Given the description of an element on the screen output the (x, y) to click on. 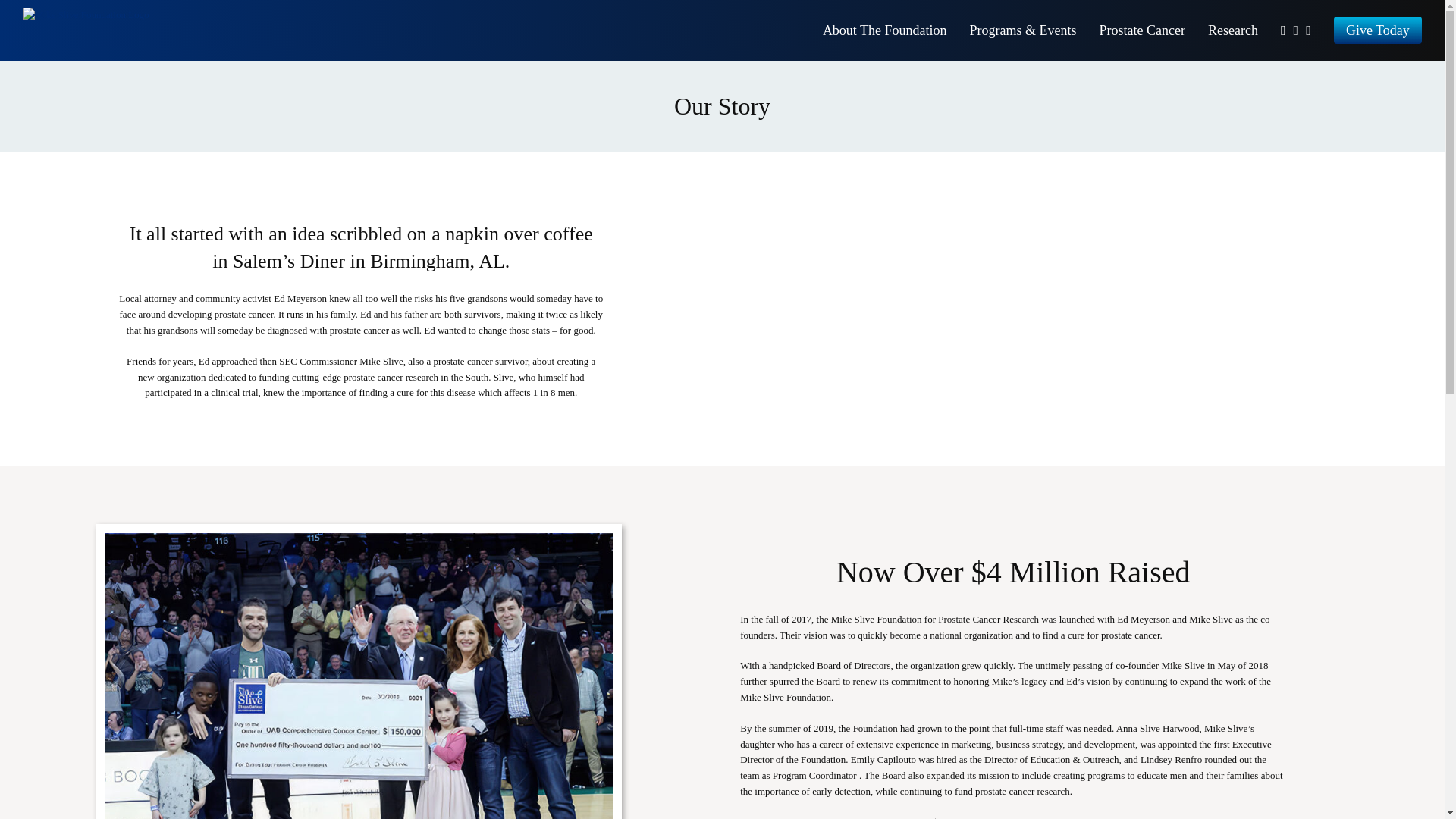
Prostate Cancer (1142, 30)
About The Foundation (884, 30)
Give Today (1377, 30)
